Given the description of an element on the screen output the (x, y) to click on. 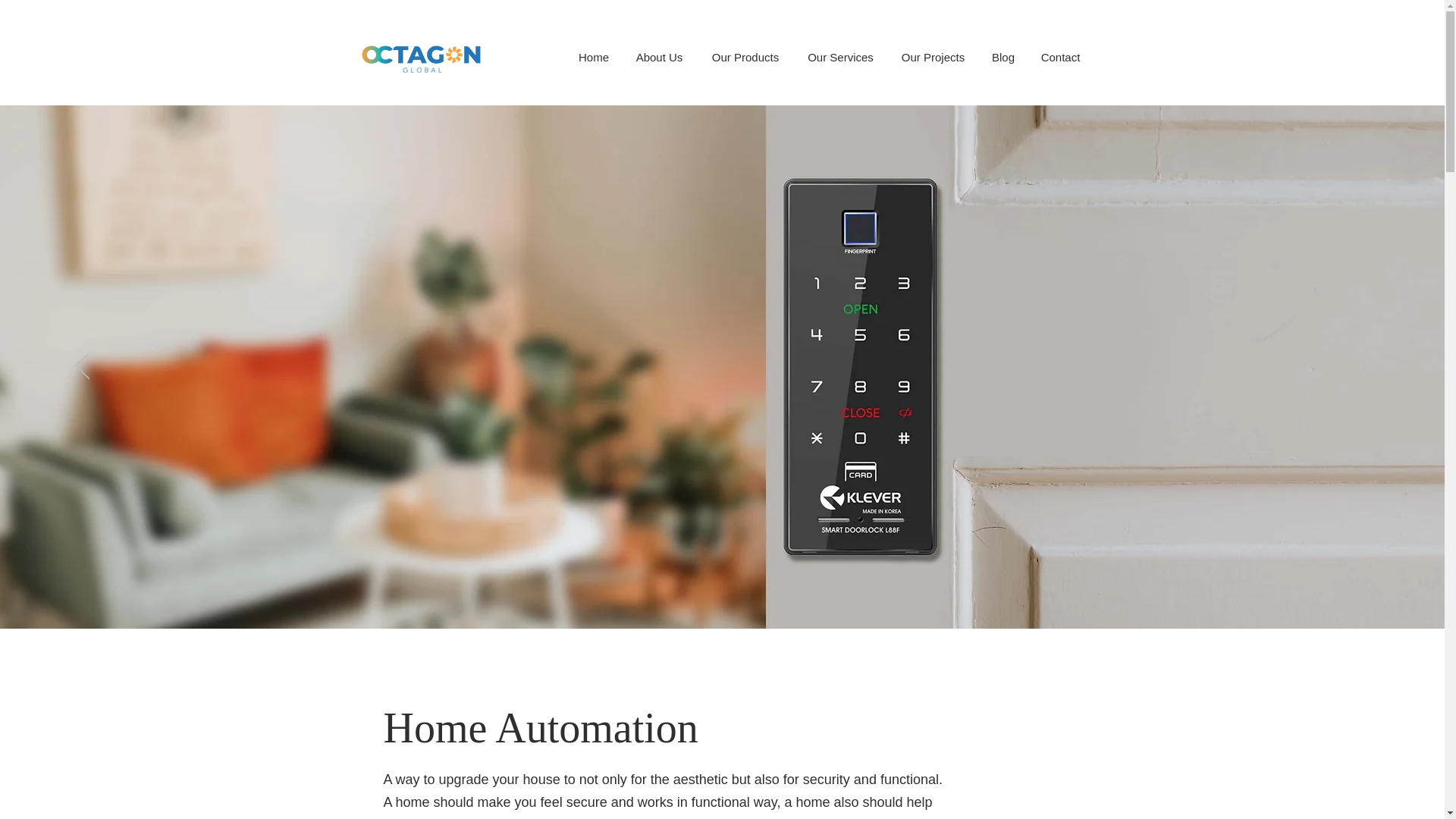
Home (594, 56)
About Us (658, 56)
Our Products (744, 56)
Blog (1003, 56)
Contact (1059, 56)
Our Projects (932, 56)
Our Services (840, 56)
